Given the description of an element on the screen output the (x, y) to click on. 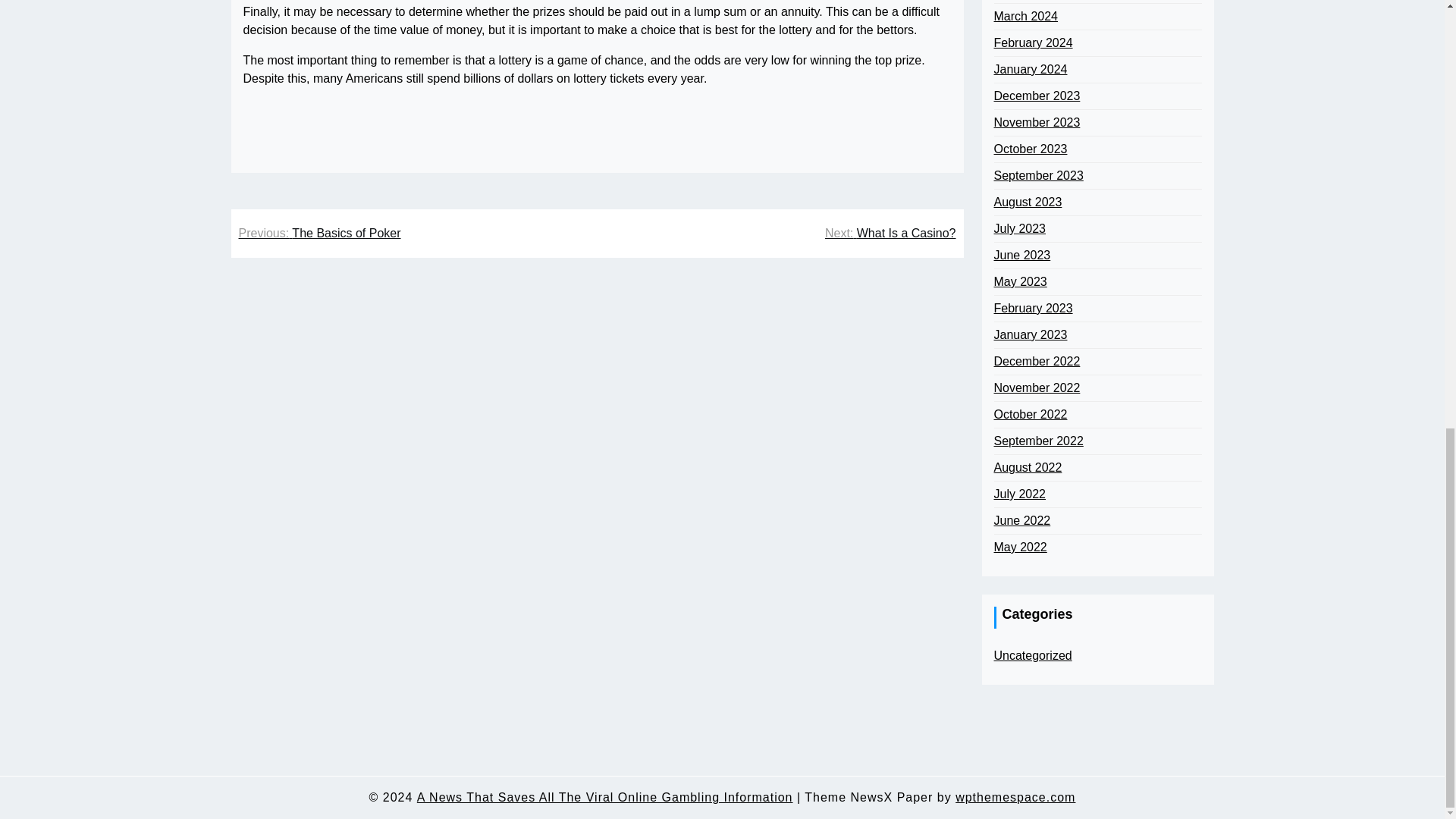
October 2023 (1029, 149)
December 2022 (1036, 361)
November 2022 (1036, 388)
June 2023 (1020, 255)
February 2024 (1031, 43)
July 2023 (1018, 229)
Previous: The Basics of Poker (319, 233)
August 2023 (1026, 202)
September 2022 (1037, 441)
Next: What Is a Casino? (890, 233)
